Given the description of an element on the screen output the (x, y) to click on. 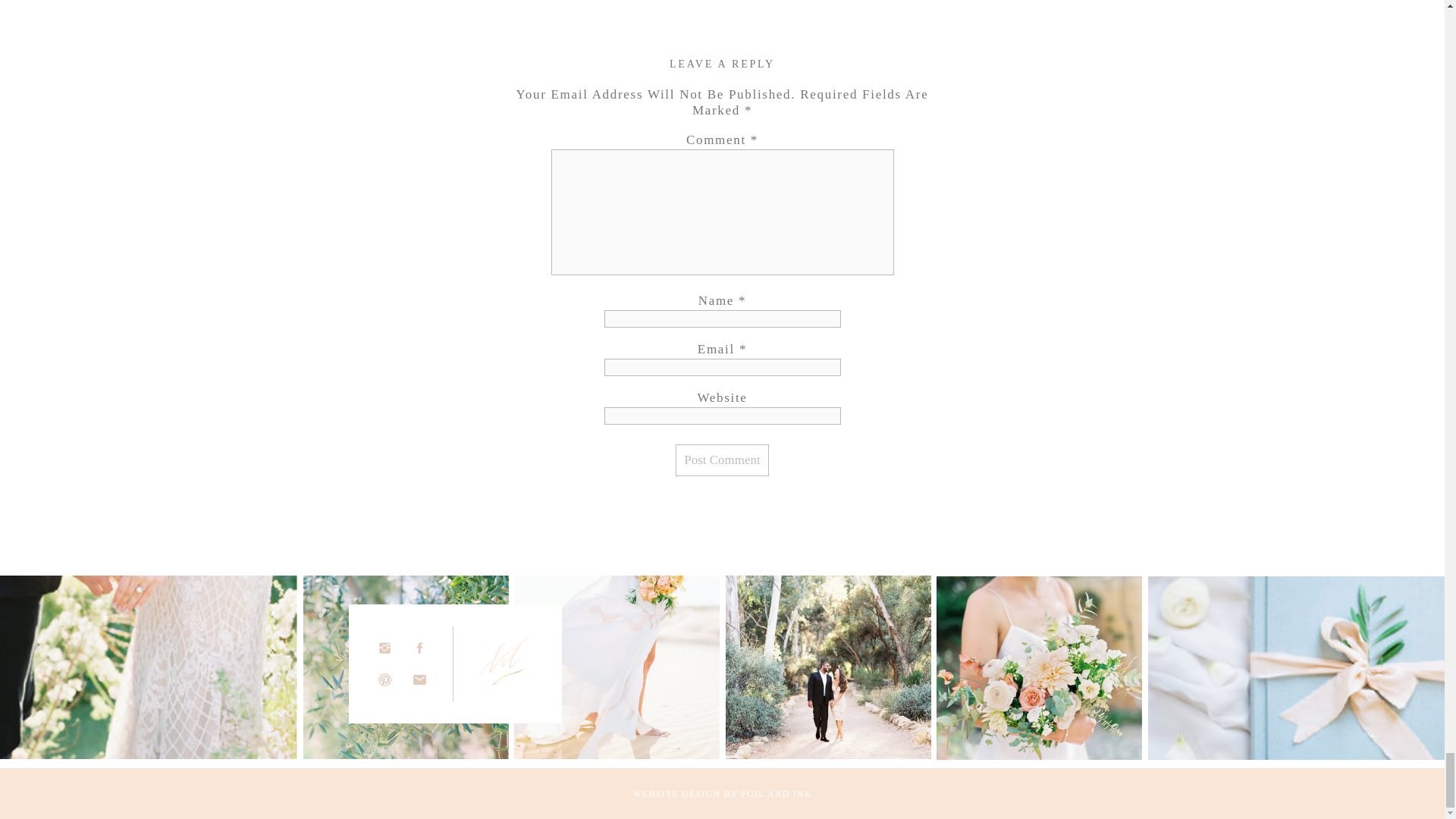
Post Comment (721, 459)
WEBSITE DESIGN BY FOIL AND INK (722, 793)
Post Comment (721, 459)
